Given the description of an element on the screen output the (x, y) to click on. 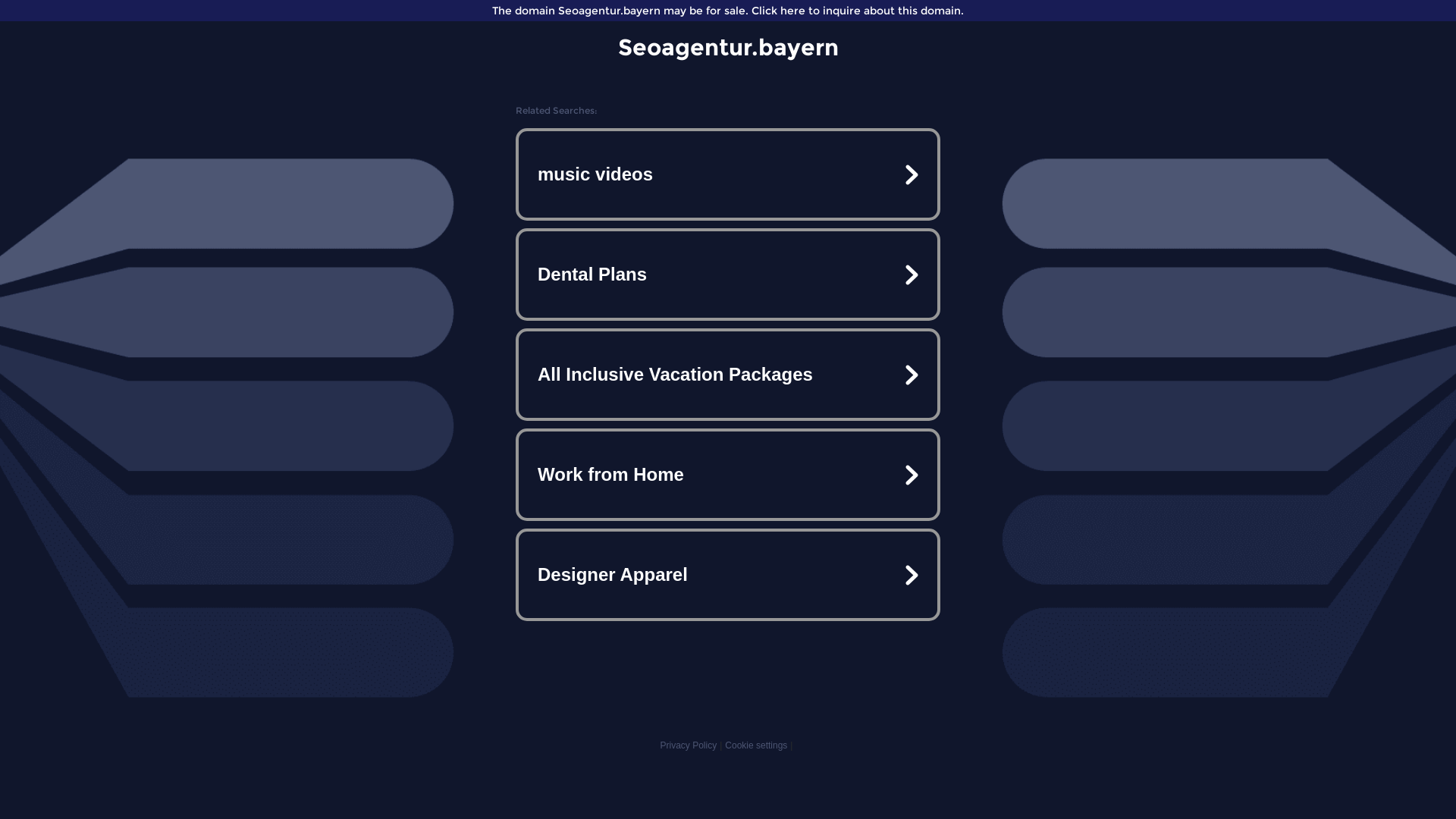
music videos Element type: text (727, 174)
Work from Home Element type: text (727, 474)
All Inclusive Vacation Packages Element type: text (727, 374)
Seoagentur.bayern Element type: text (727, 47)
Cookie settings Element type: text (755, 745)
Designer Apparel Element type: text (727, 574)
Privacy Policy Element type: text (687, 745)
Dental Plans Element type: text (727, 274)
